Given the description of an element on the screen output the (x, y) to click on. 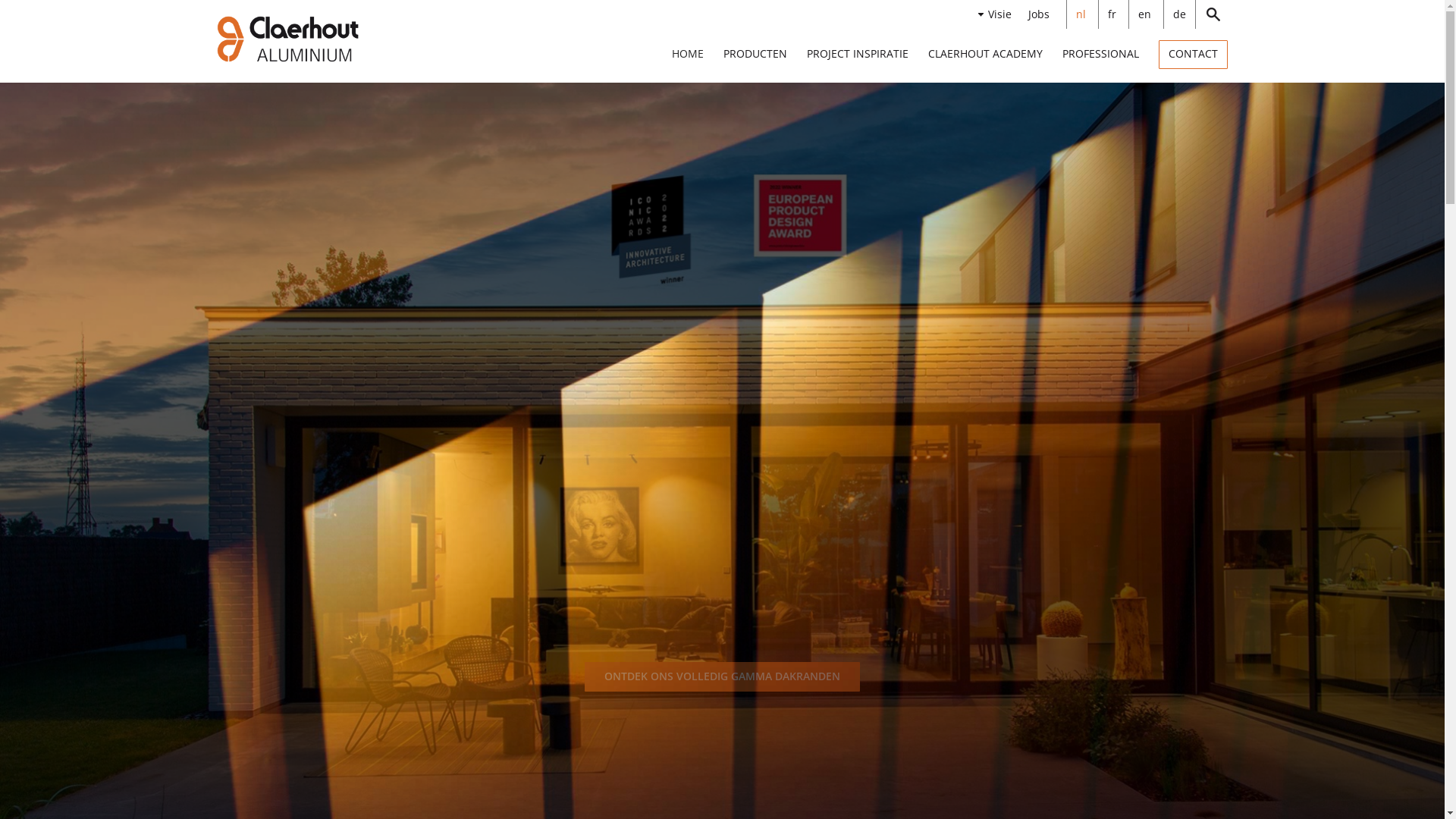
  Element type: text (1211, 14)
de Element type: text (1179, 14)
Claerhout Aluminium NV Element type: hover (288, 38)
en Element type: text (1144, 14)
HOME Element type: text (687, 53)
Visie Element type: text (1008, 14)
fr Element type: text (1111, 14)
Jobs Element type: text (1047, 14)
PROFESSIONAL Element type: text (1100, 54)
PRODUCTEN Element type: text (755, 54)
Zoeken Element type: hover (1211, 14)
CONTACT Element type: text (1192, 54)
CLAERHOUT ACADEMY Element type: text (985, 54)
nl Element type: text (1080, 14)
PROJECT INSPIRATIE Element type: text (857, 54)
